Given the description of an element on the screen output the (x, y) to click on. 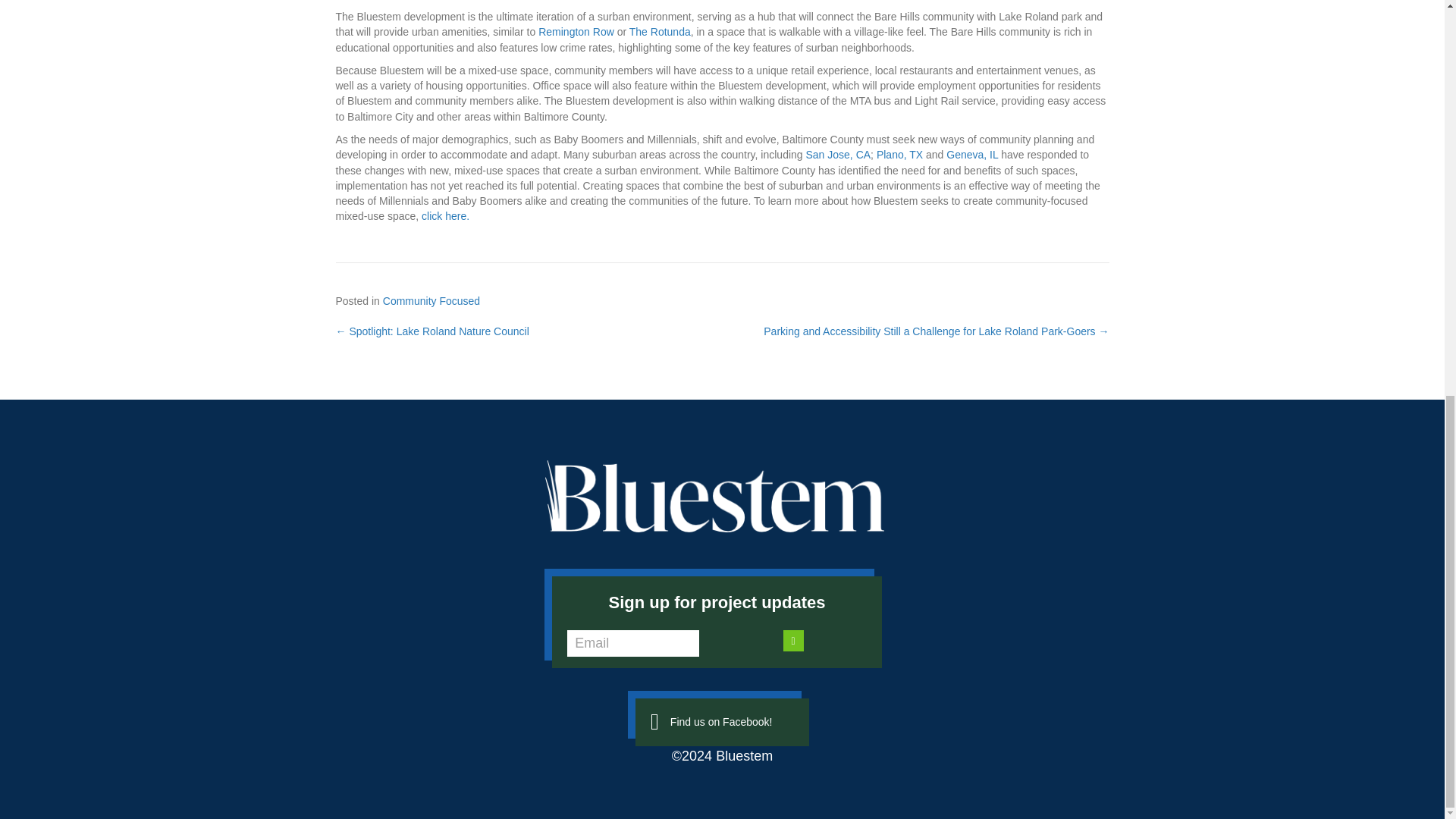
Submit (793, 640)
Geneva, IL (971, 154)
bluestem-logo-white (713, 495)
San Jose, CA (837, 154)
Remington Row (576, 31)
Find us on Facebook! (721, 721)
Community Focused (431, 300)
The Rotunda (659, 31)
Plano, TX (899, 154)
click here. (445, 215)
